Given the description of an element on the screen output the (x, y) to click on. 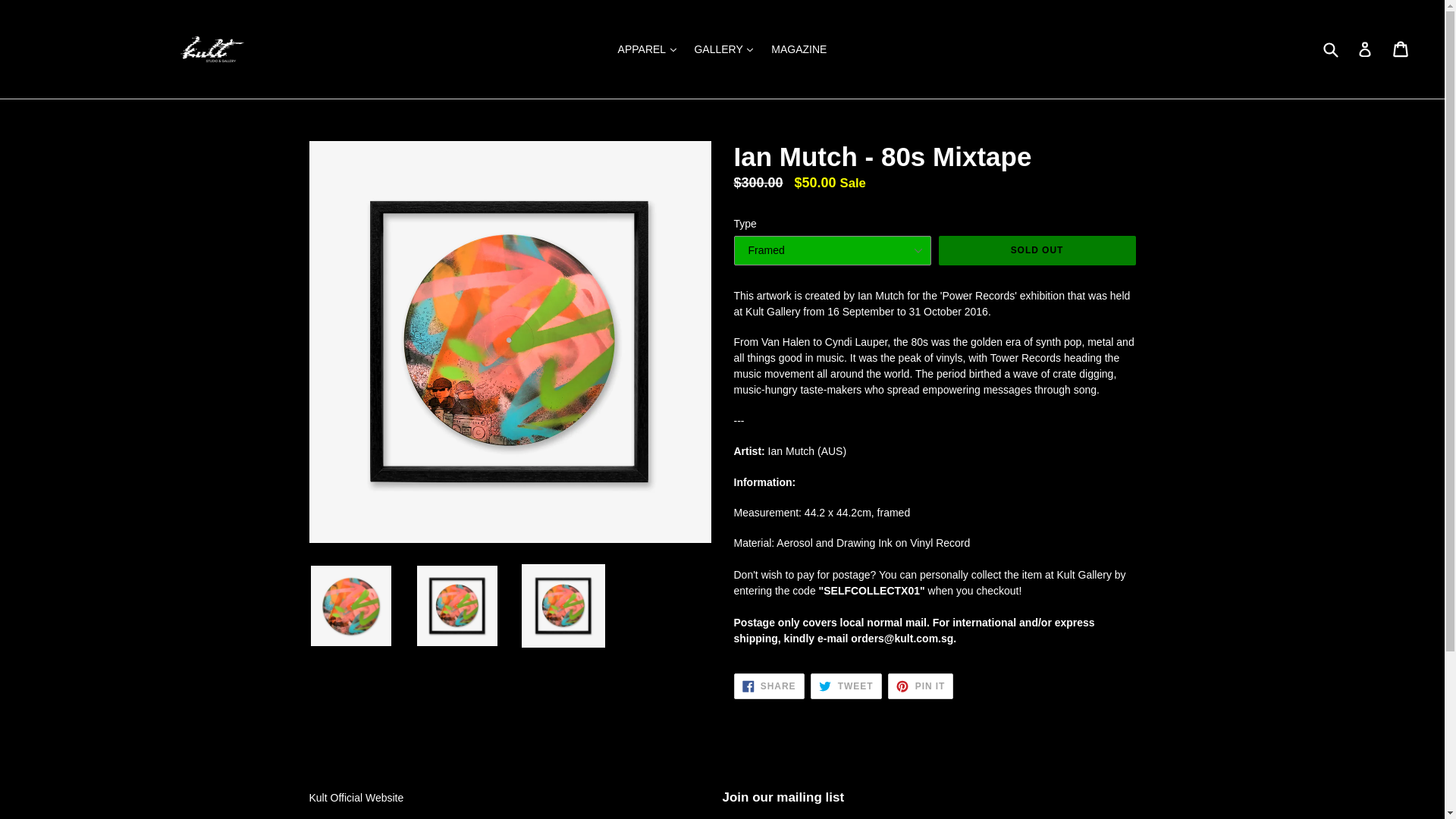
Tweet on Twitter (845, 686)
Pin on Pinterest (920, 686)
Share on Facebook (769, 686)
